Given the description of an element on the screen output the (x, y) to click on. 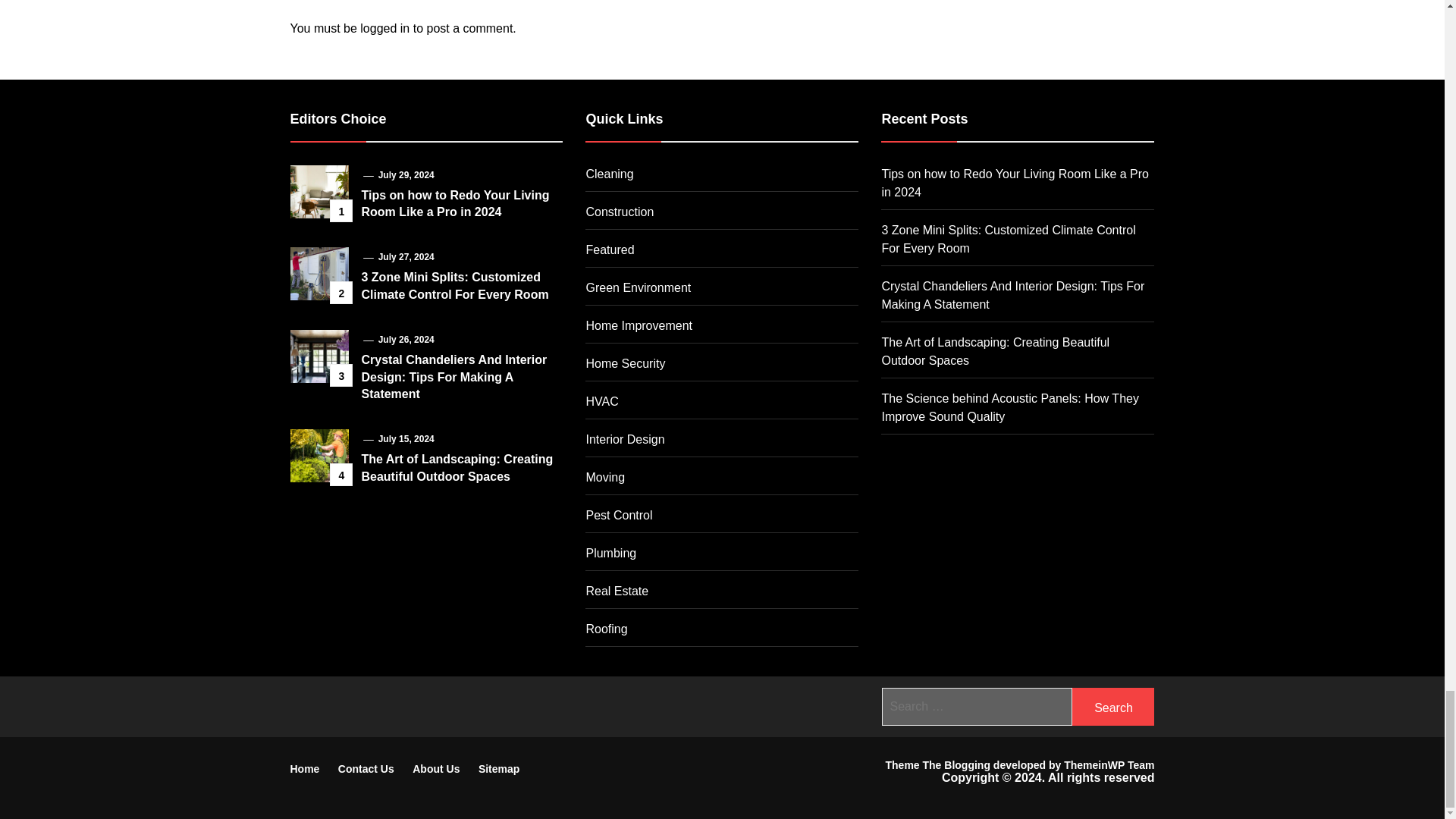
Search (1112, 706)
Search (1112, 706)
